Given the description of an element on the screen output the (x, y) to click on. 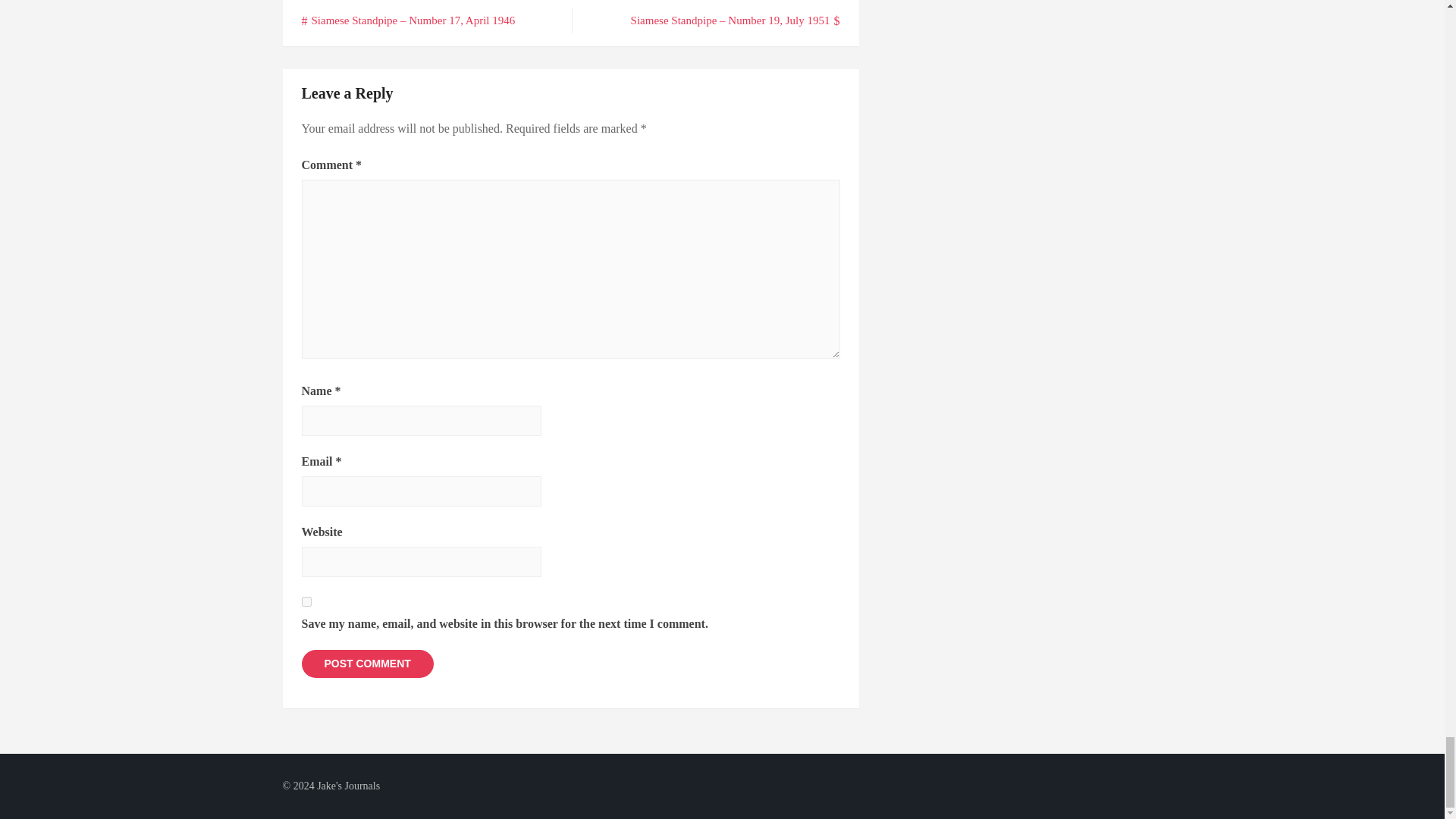
Post Comment (367, 664)
yes (306, 601)
